Given the description of an element on the screen output the (x, y) to click on. 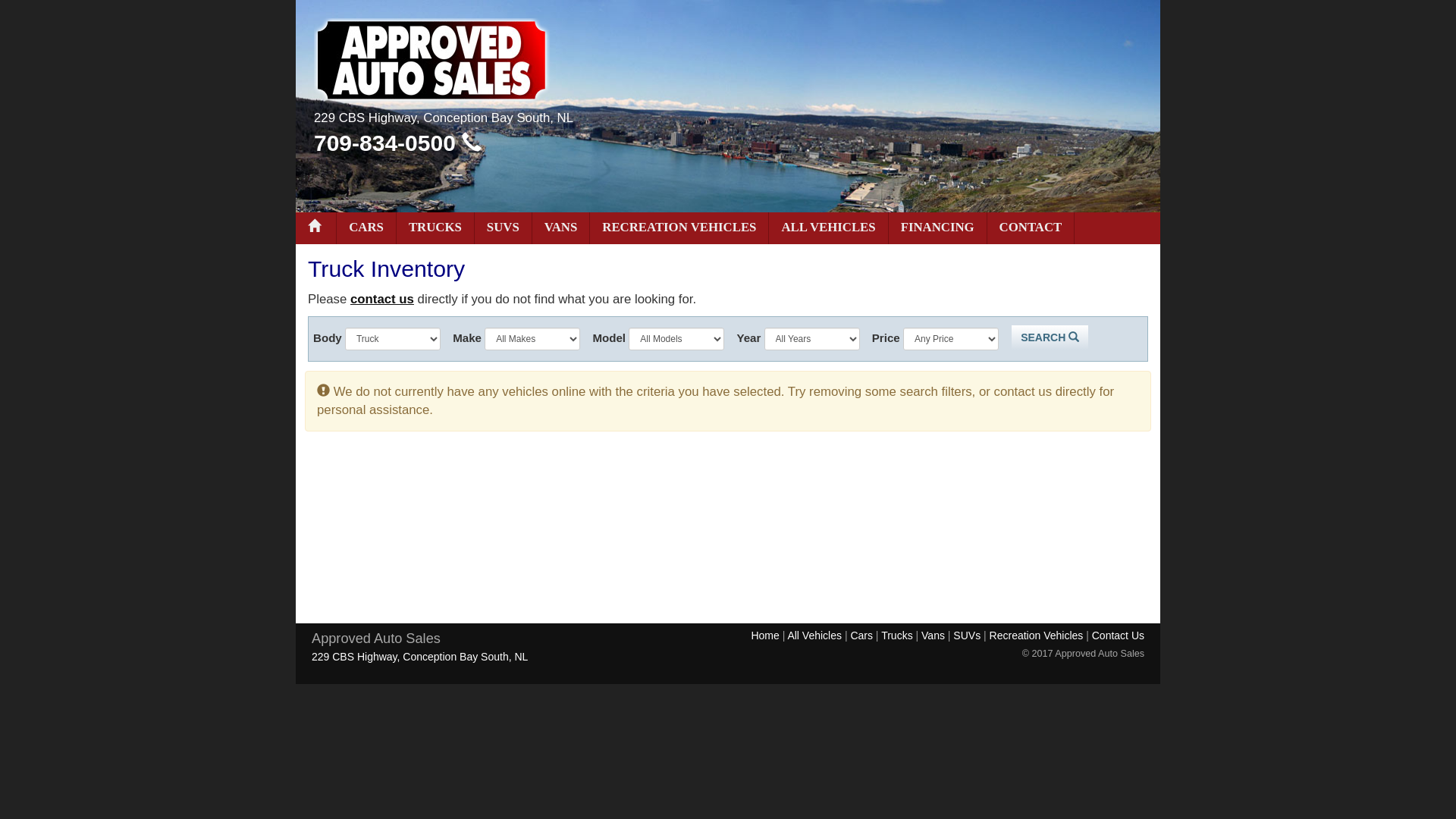
  Element type: text (315, 228)
Vans Element type: text (937, 635)
CARS Element type: text (366, 228)
FINANCING Element type: text (937, 228)
SUVs Element type: text (970, 635)
CONTACT Element type: text (1031, 228)
Home Element type: text (768, 635)
ALL VEHICLES Element type: text (828, 228)
contact us Element type: text (382, 298)
TRUCKS Element type: text (435, 228)
709-834-0500 Element type: text (397, 142)
Cars Element type: text (865, 635)
Recreation Vehicles Element type: text (1040, 635)
SEARCH Element type: text (1049, 337)
Trucks Element type: text (901, 635)
All Vehicles Element type: text (818, 635)
Contact Us Element type: text (1118, 635)
RECREATION VEHICLES Element type: text (678, 228)
VANS Element type: text (561, 228)
SUVS Element type: text (503, 228)
